Given the description of an element on the screen output the (x, y) to click on. 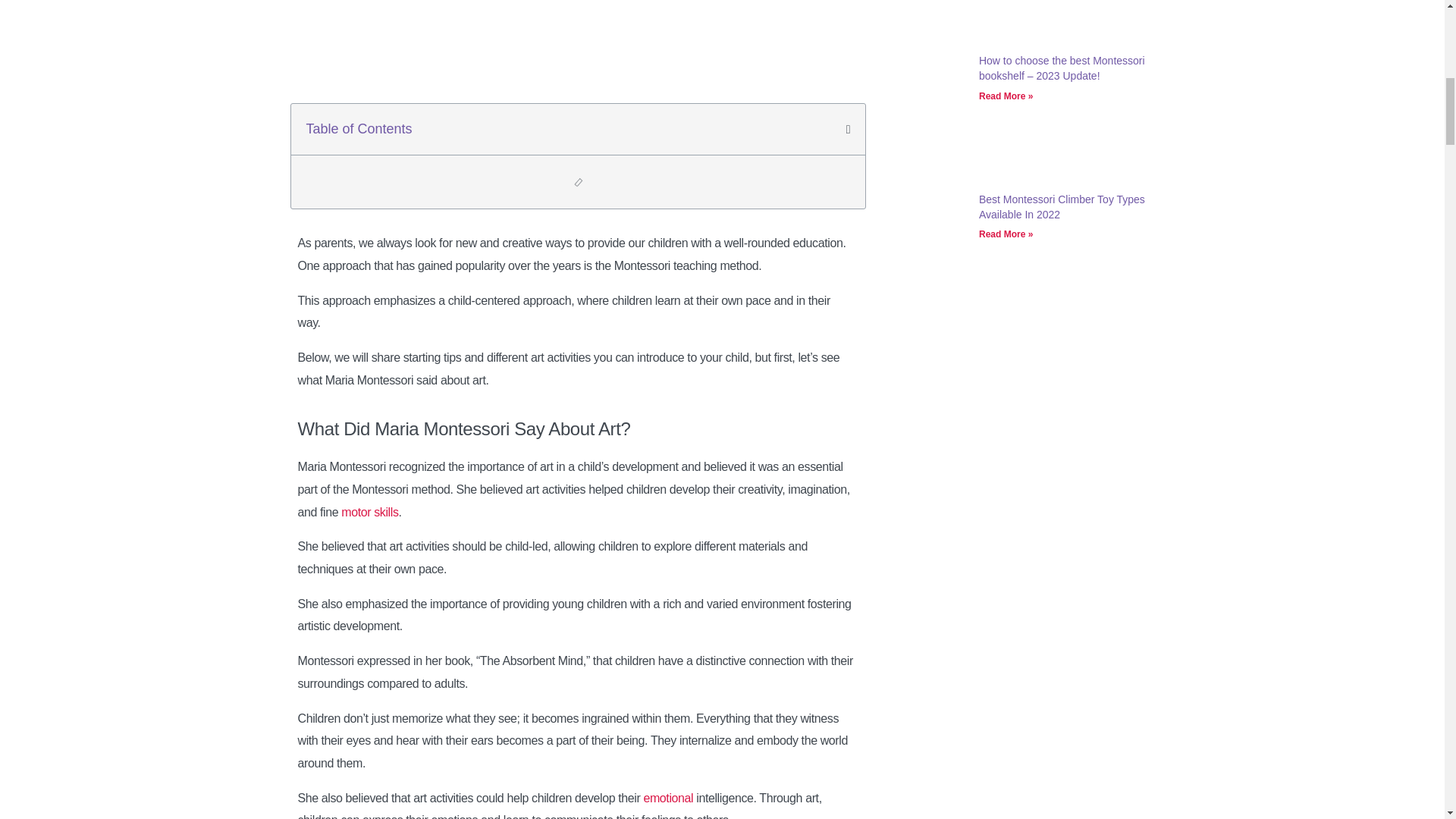
motor skills (368, 512)
Best Montessori Climber Toy Types Available In 2022 (932, 229)
Timber Tiered Bookshelf by Fox Wood Co. (932, 90)
emotional (668, 797)
